Given the description of an element on the screen output the (x, y) to click on. 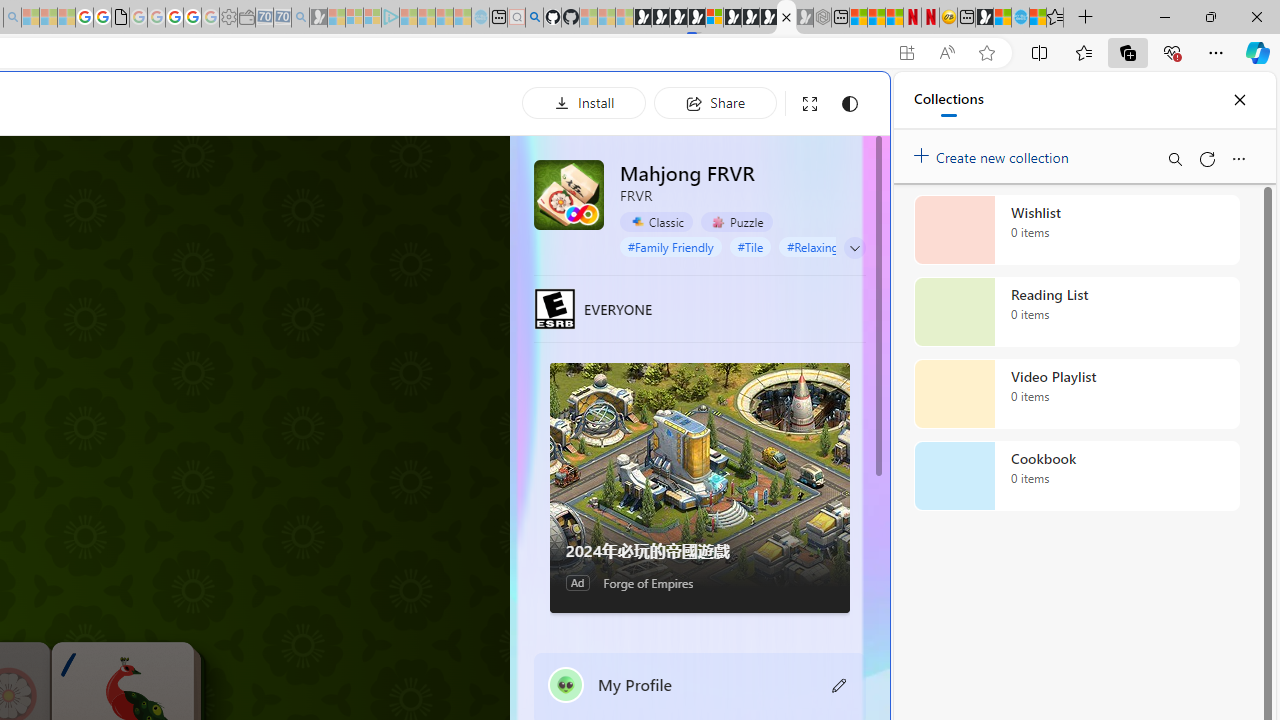
Play Cave FRVR in your browser | Games from Microsoft Start (678, 17)
Play Cave FRVR in your browser | Games from Microsoft Start (343, 426)
Puzzle (737, 221)
Install (583, 102)
Change to dark mode (849, 103)
